Given the description of an element on the screen output the (x, y) to click on. 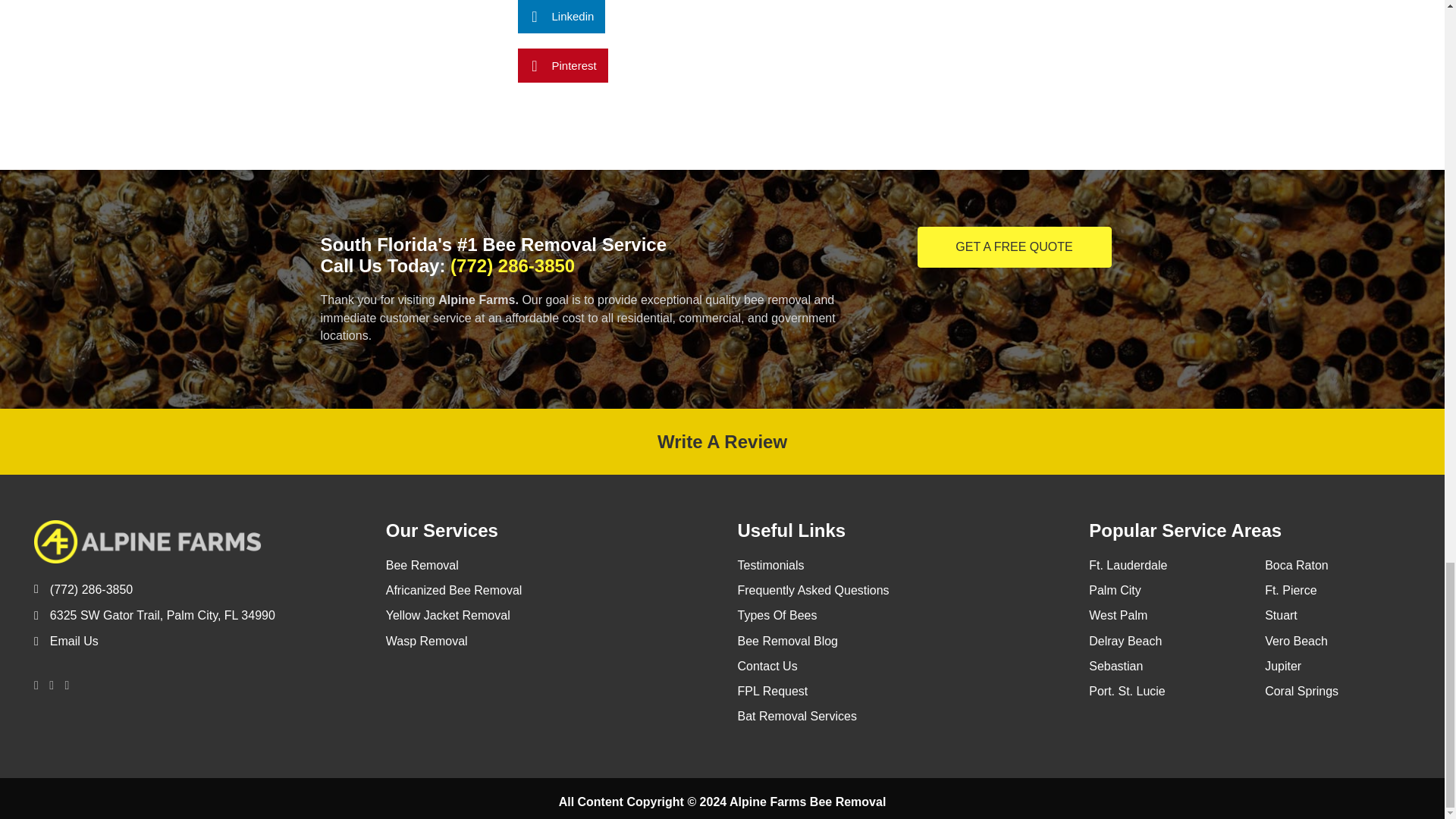
Click Here (1014, 246)
logo (147, 541)
Linkedin (560, 16)
Write A Review (722, 441)
